Given the description of an element on the screen output the (x, y) to click on. 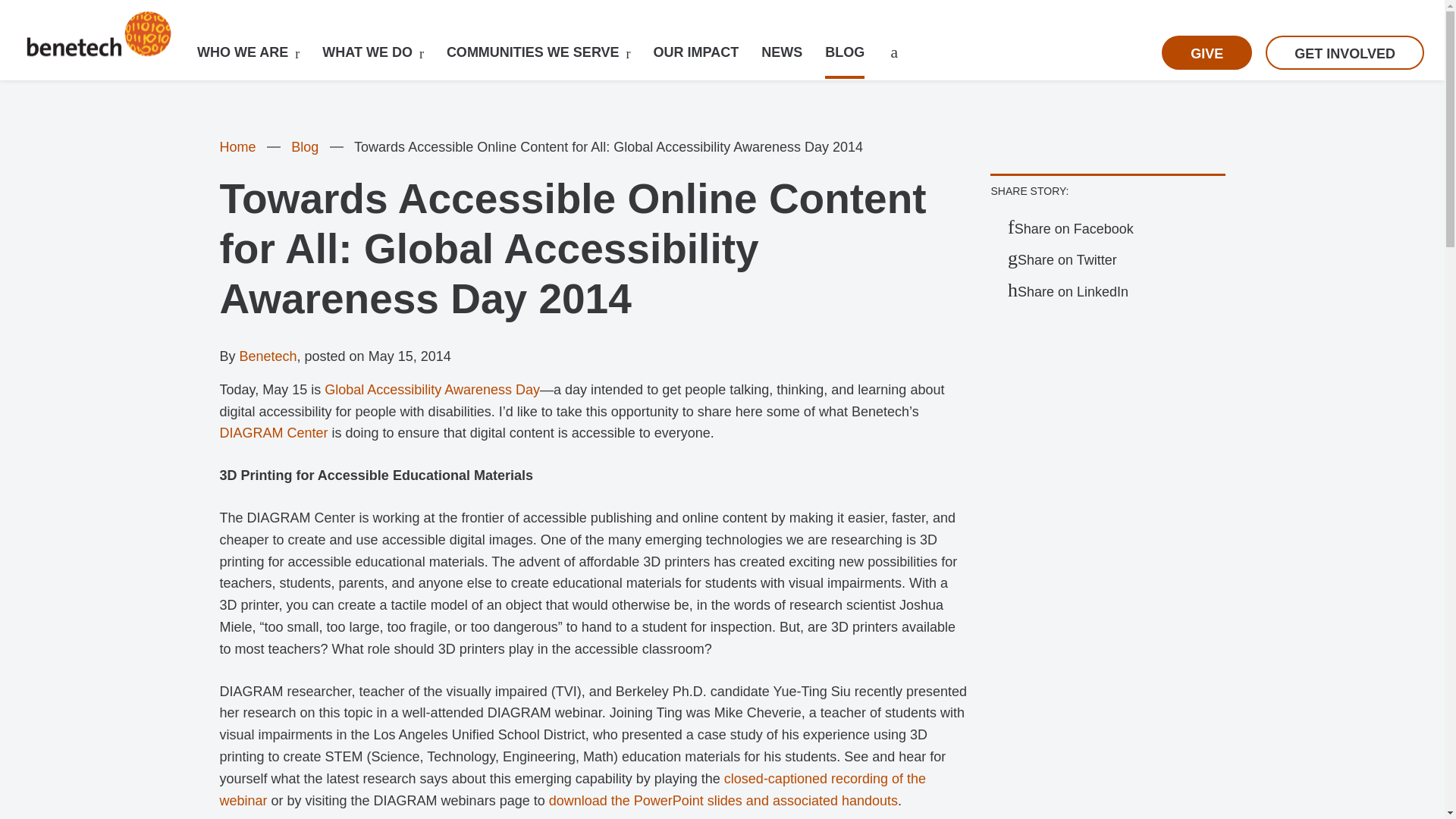
Share story on Facebook (1070, 228)
OUR IMPACT (696, 51)
Global Accessibility Awareness Day (432, 389)
GIVE (1206, 52)
GET INVOLVED (1344, 52)
NEWS (781, 51)
Benetech (268, 355)
WHAT WE DO (366, 51)
Share story on LinkedIn (1067, 291)
DIAGRAM Center (273, 432)
